Given the description of an element on the screen output the (x, y) to click on. 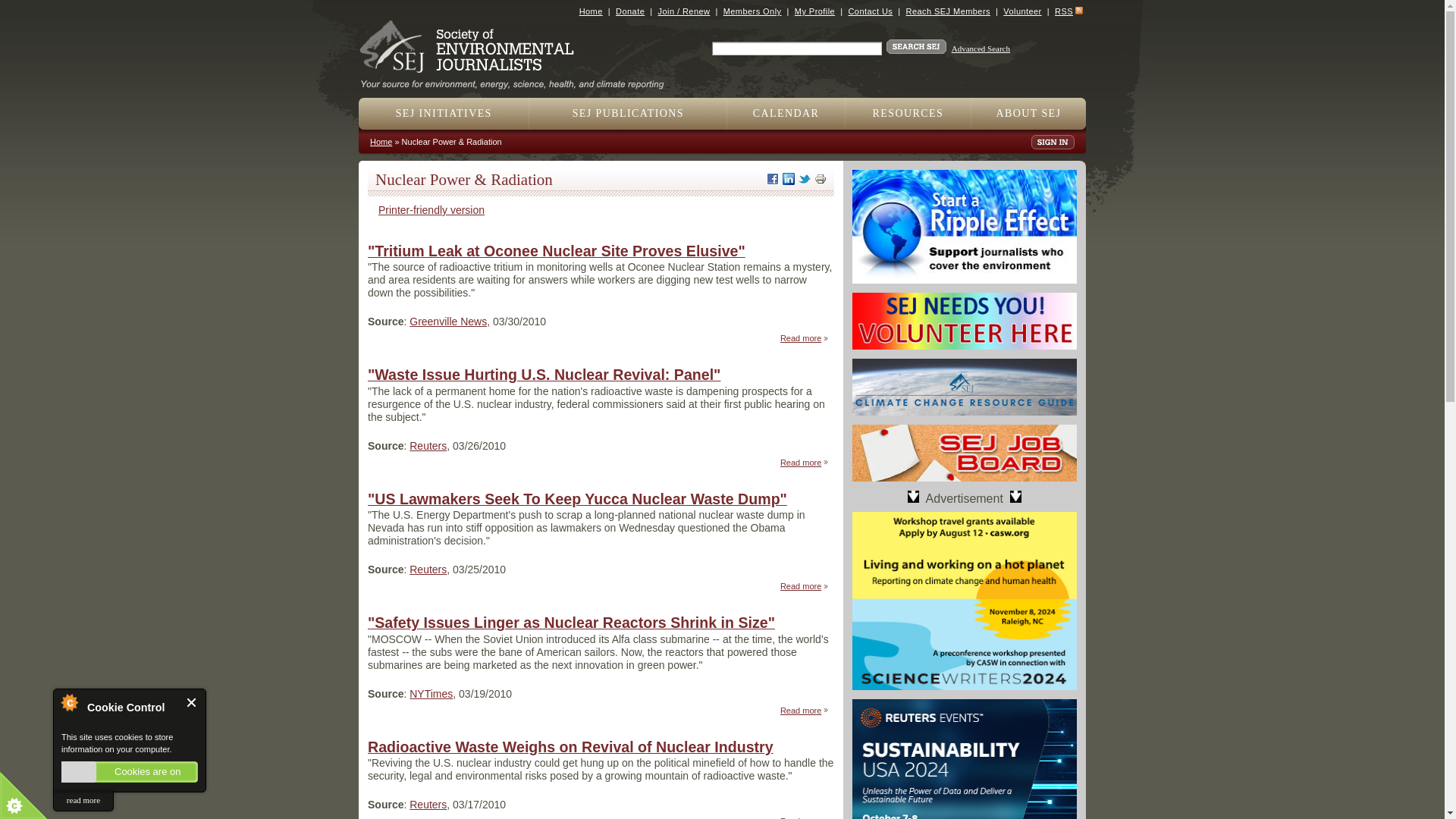
SEJ PUBLICATIONS (627, 113)
RSS (1063, 10)
Close (191, 702)
Contact Us (869, 10)
Home (590, 10)
Advanced Search (981, 48)
My Profile (814, 10)
Home (518, 79)
SEJ INITIATIVES (443, 113)
Enter the terms you wish to search for. (796, 48)
